Given the description of an element on the screen output the (x, y) to click on. 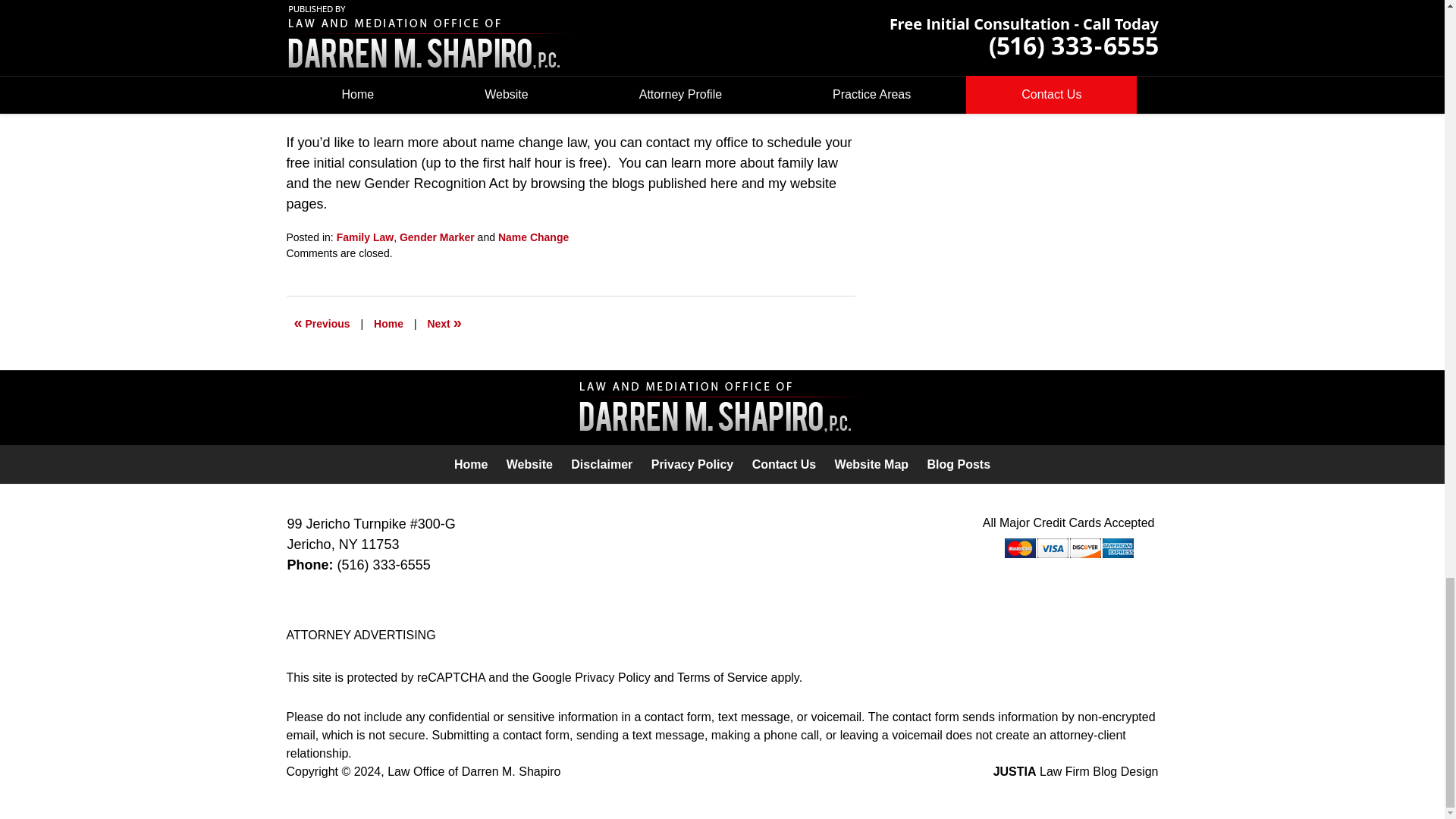
Name Change Law Latest Amendments in New York (322, 323)
Gender Marker (436, 236)
The Changes To the Child Support Income Cap in New York (443, 323)
View all posts in Gender Marker (436, 236)
Name Change (533, 236)
View all posts in Family Law (364, 236)
View all posts in Name Change (533, 236)
Home (388, 323)
Family Law (364, 236)
